Given the description of an element on the screen output the (x, y) to click on. 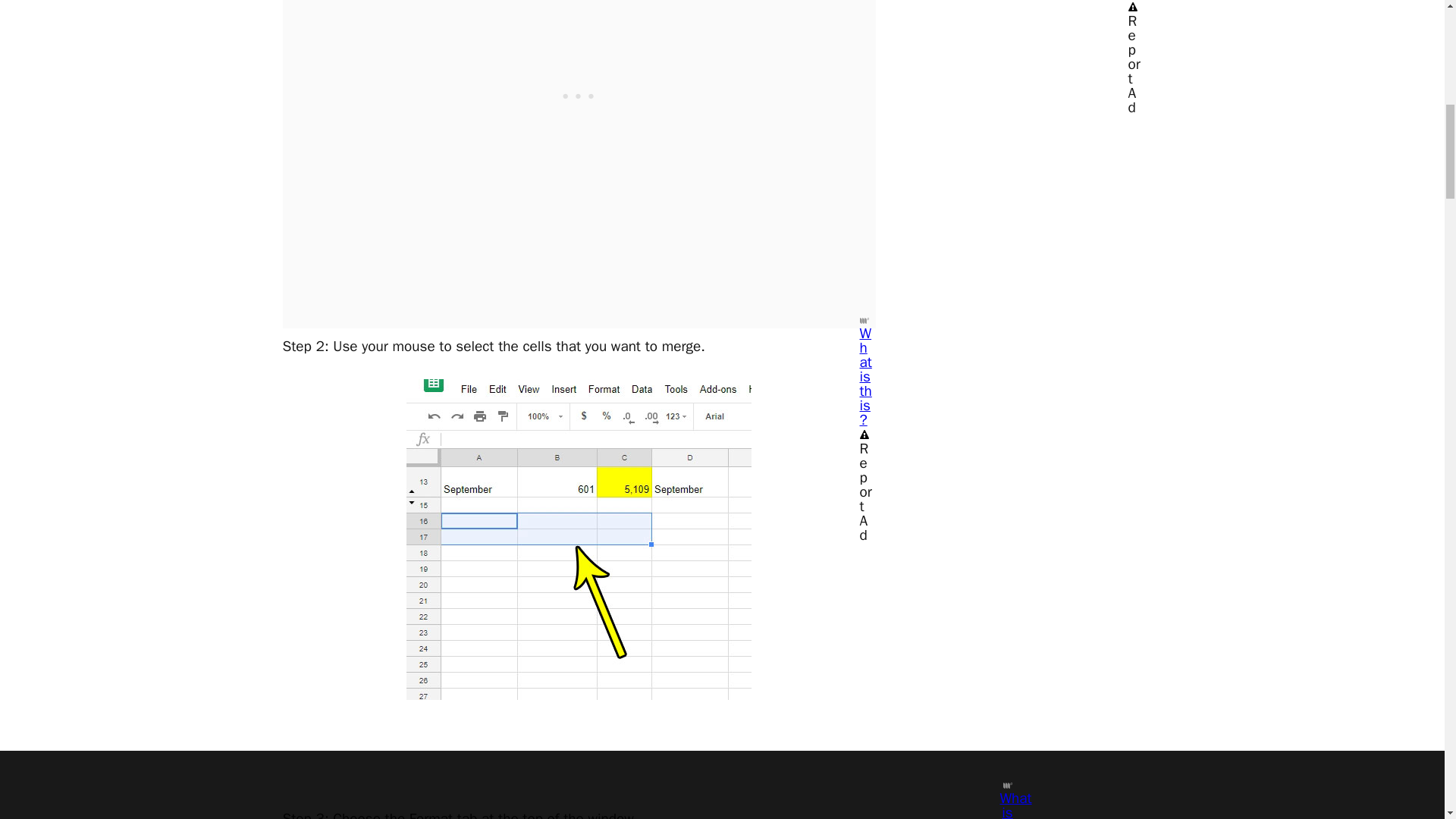
3rd party ad content (579, 92)
